Given the description of an element on the screen output the (x, y) to click on. 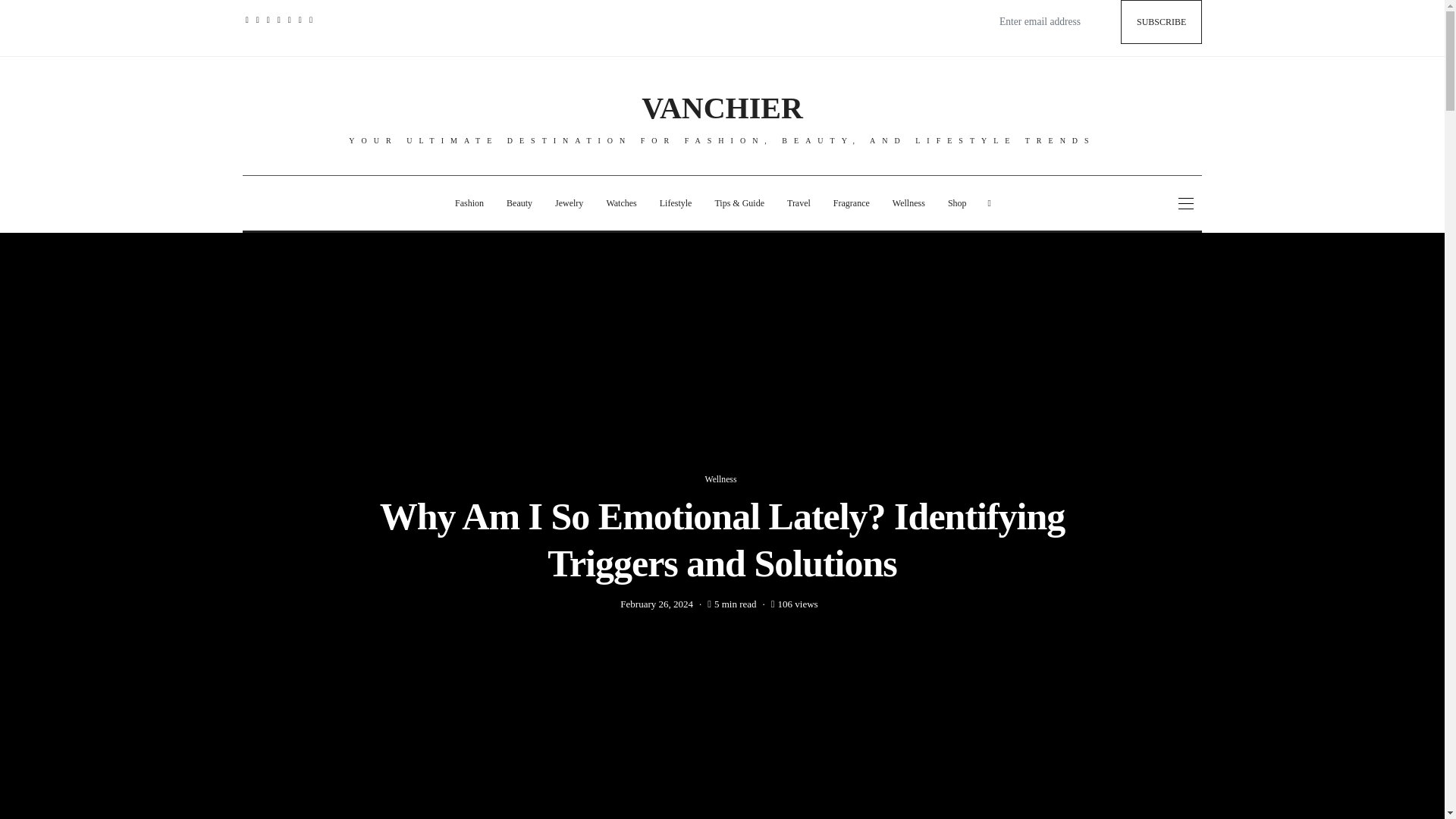
Subscribe (1161, 22)
Jewelry (568, 203)
Wellness (908, 203)
Fashion (469, 203)
February 26, 2024 (656, 603)
Watches (620, 203)
VANCHIER (722, 107)
Fragrance (851, 203)
Wellness (721, 479)
